Given the description of an element on the screen output the (x, y) to click on. 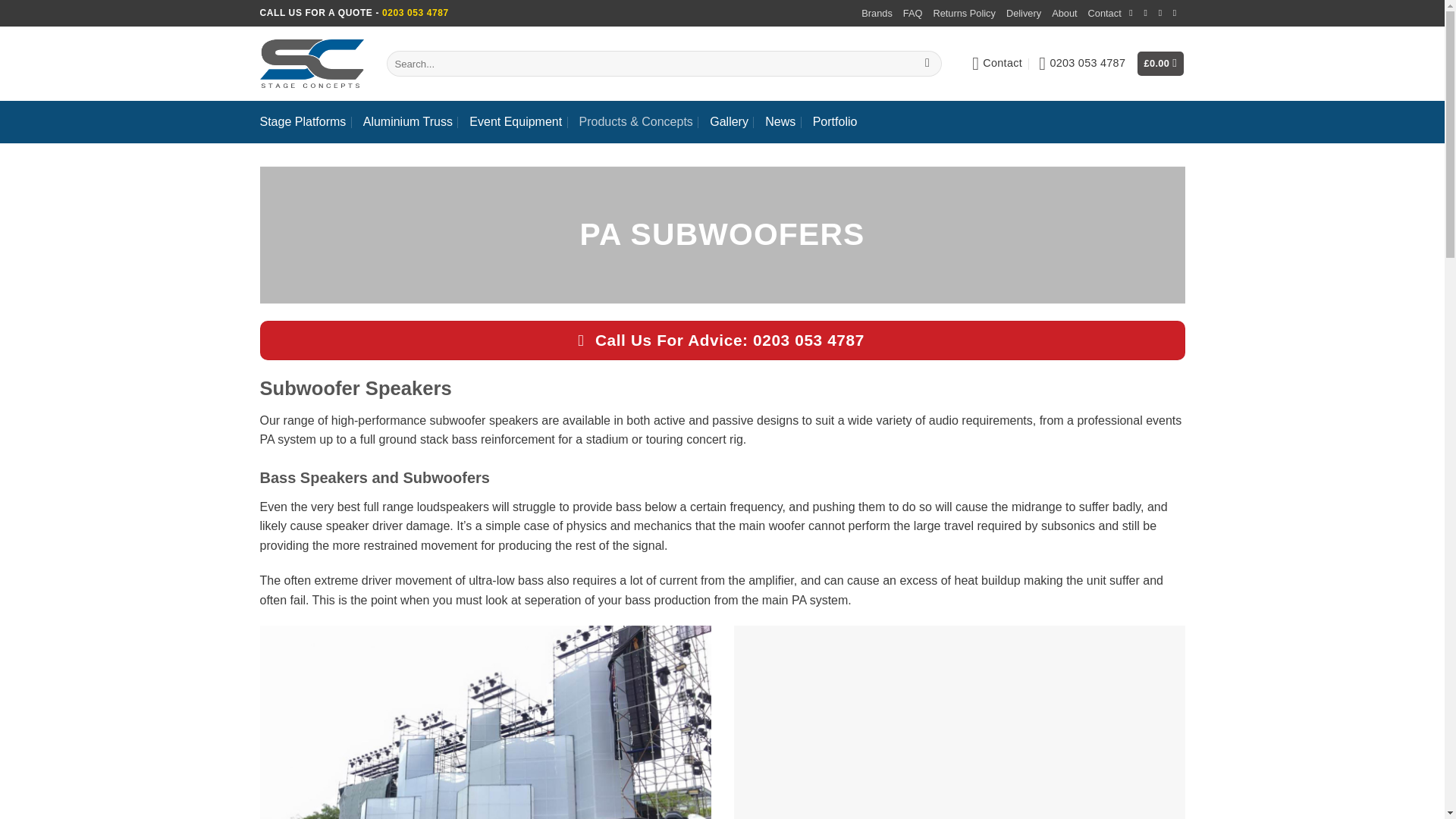
Delivery (1023, 13)
0203 053 4787 (1082, 63)
Basket (1160, 63)
Follow on Facebook (1133, 12)
FAQ (912, 13)
Follow on LinkedIn (1177, 12)
0203 053 4787 (1082, 63)
Brands (876, 13)
0203 053 4787 (414, 12)
Contact (997, 63)
Search (927, 63)
Stage Platforms (302, 121)
Contact (1104, 13)
Send us an email (1147, 12)
About (1064, 13)
